Given the description of an element on the screen output the (x, y) to click on. 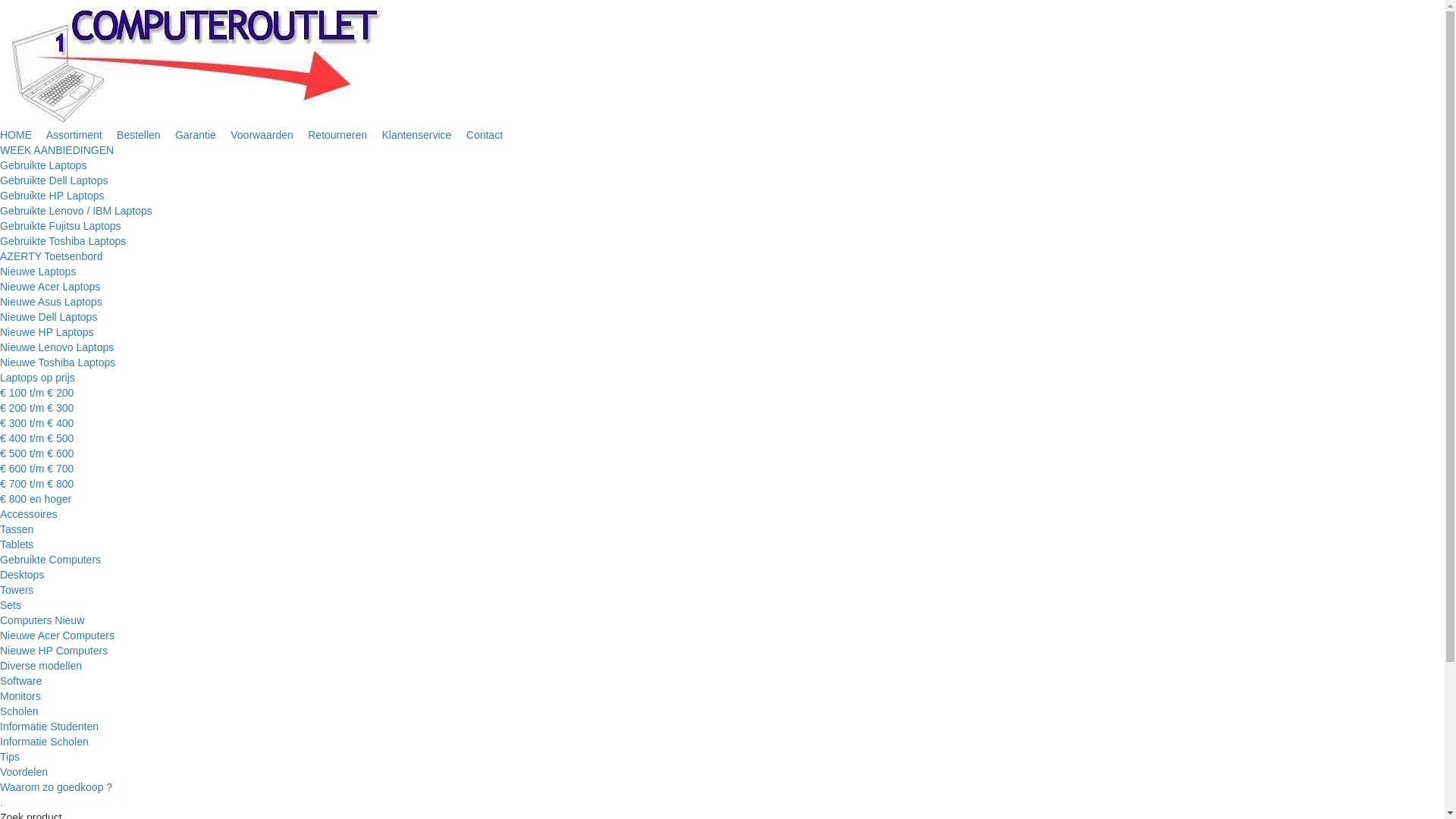
Gebruikte HP Laptops Element type: text (52, 195)
Diverse modellen Element type: text (40, 665)
Gebruikte Lenovo / IBM Laptops Element type: text (76, 210)
Tassen Element type: text (16, 529)
Assortiment Element type: text (75, 134)
Scholen Element type: text (19, 711)
Gebruikte Computers Element type: text (50, 559)
Voordelen Element type: text (23, 771)
Nieuwe Dell Laptops Element type: text (48, 316)
Software Element type: text (20, 680)
Nieuwe Toshiba Laptops Element type: text (57, 362)
Monitors Element type: text (20, 696)
Sets Element type: text (10, 605)
Bestellen Element type: text (139, 134)
Tablets Element type: text (16, 544)
Gebruikte Dell Laptops Element type: text (53, 180)
Retourneren Element type: text (338, 134)
Nieuwe Acer Computers Element type: text (57, 635)
WEEK AANBIEDINGEN Element type: text (56, 150)
. Element type: text (1, 802)
Voorwaarden Element type: text (262, 134)
Gebruikte Toshiba Laptops Element type: text (62, 241)
Informatie Studenten Element type: text (49, 726)
Tips Element type: text (9, 756)
Computers Nieuw Element type: text (42, 620)
Nieuwe HP Laptops Element type: text (46, 332)
Gebruikte Fujitsu Laptops Element type: text (60, 225)
Laptops op prijs Element type: text (37, 377)
AZERTY Toetsenbord Element type: text (51, 256)
Nieuwe Lenovo Laptops Element type: text (56, 347)
Desktops Element type: text (21, 574)
Accessoires Element type: text (28, 514)
Waarom zo goedkoop ? Element type: text (56, 787)
HOME Element type: text (17, 134)
Klantenservice Element type: text (418, 134)
Nieuwe HP Computers Element type: text (53, 650)
Towers Element type: text (16, 589)
Nieuwe Laptops Element type: text (37, 271)
Contact Element type: text (484, 134)
Gebruikte Laptops Element type: text (43, 165)
Nieuwe Acer Laptops Element type: text (50, 286)
Nieuwe Asus Laptops Element type: text (51, 301)
Informatie Scholen Element type: text (44, 741)
Garantie Element type: text (197, 134)
